Given the description of an element on the screen output the (x, y) to click on. 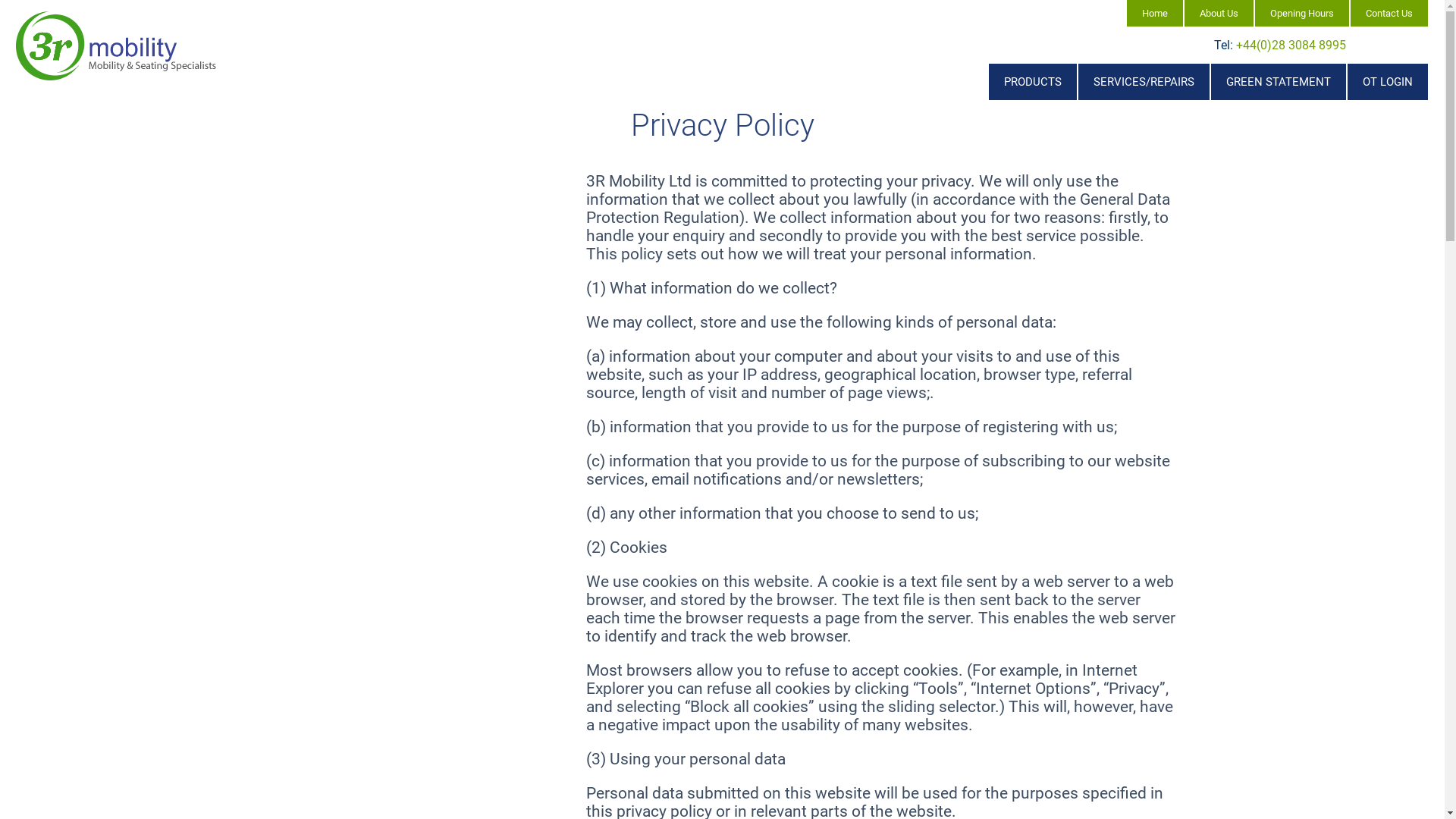
PRODUCTS Element type: text (1032, 81)
SERVICES/REPAIRS Element type: text (1143, 81)
GREEN STATEMENT Element type: text (1278, 81)
OT LOGIN Element type: text (1387, 81)
Contact Us Element type: text (1388, 13)
About Us Element type: text (1218, 13)
Opening Hours Element type: text (1302, 13)
Home Element type: text (1154, 13)
